Given the description of an element on the screen output the (x, y) to click on. 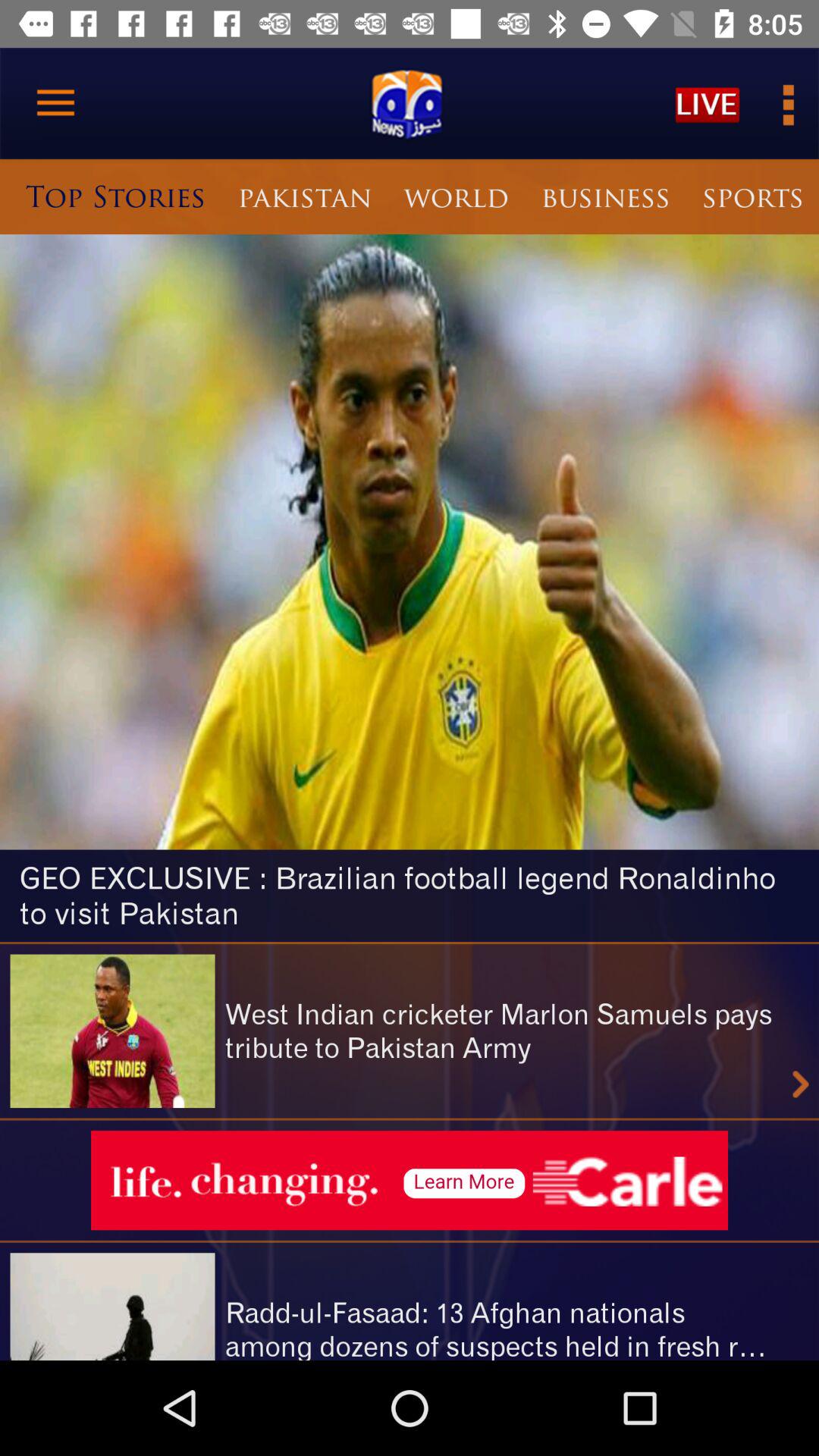
see the gallery (787, 103)
